Given the description of an element on the screen output the (x, y) to click on. 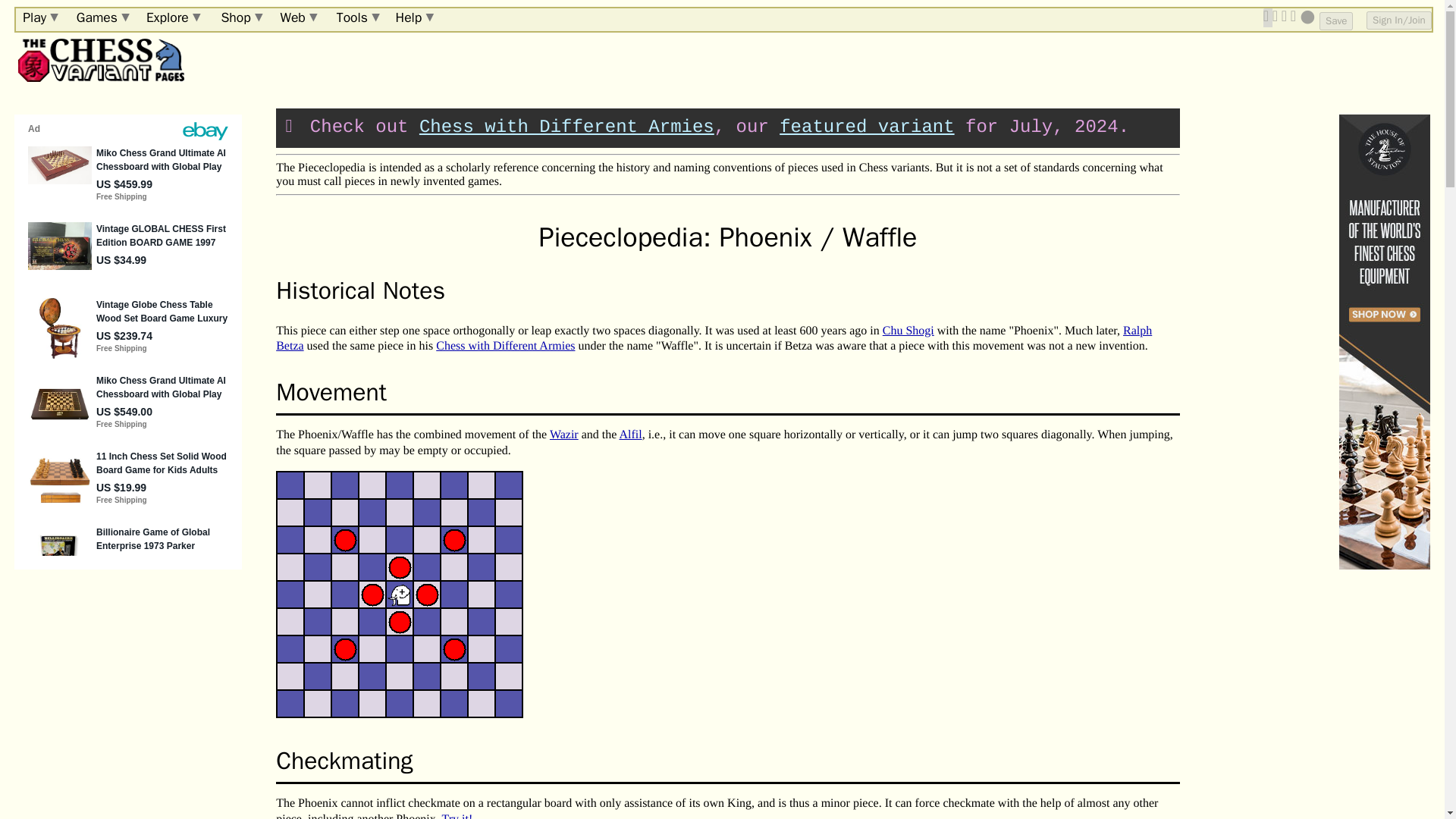
Chess with Different Armies (566, 127)
Chu Shogi (908, 330)
Save (1335, 21)
Click to go to the Homepage (98, 59)
Chess with Different Armies (505, 345)
Alfil (630, 434)
Ralph Betza (713, 338)
Wazir (564, 434)
featured variant (865, 127)
Save the current color scheme to a cookie. (1335, 21)
Save (1335, 21)
Try it! (457, 816)
